Given the description of an element on the screen output the (x, y) to click on. 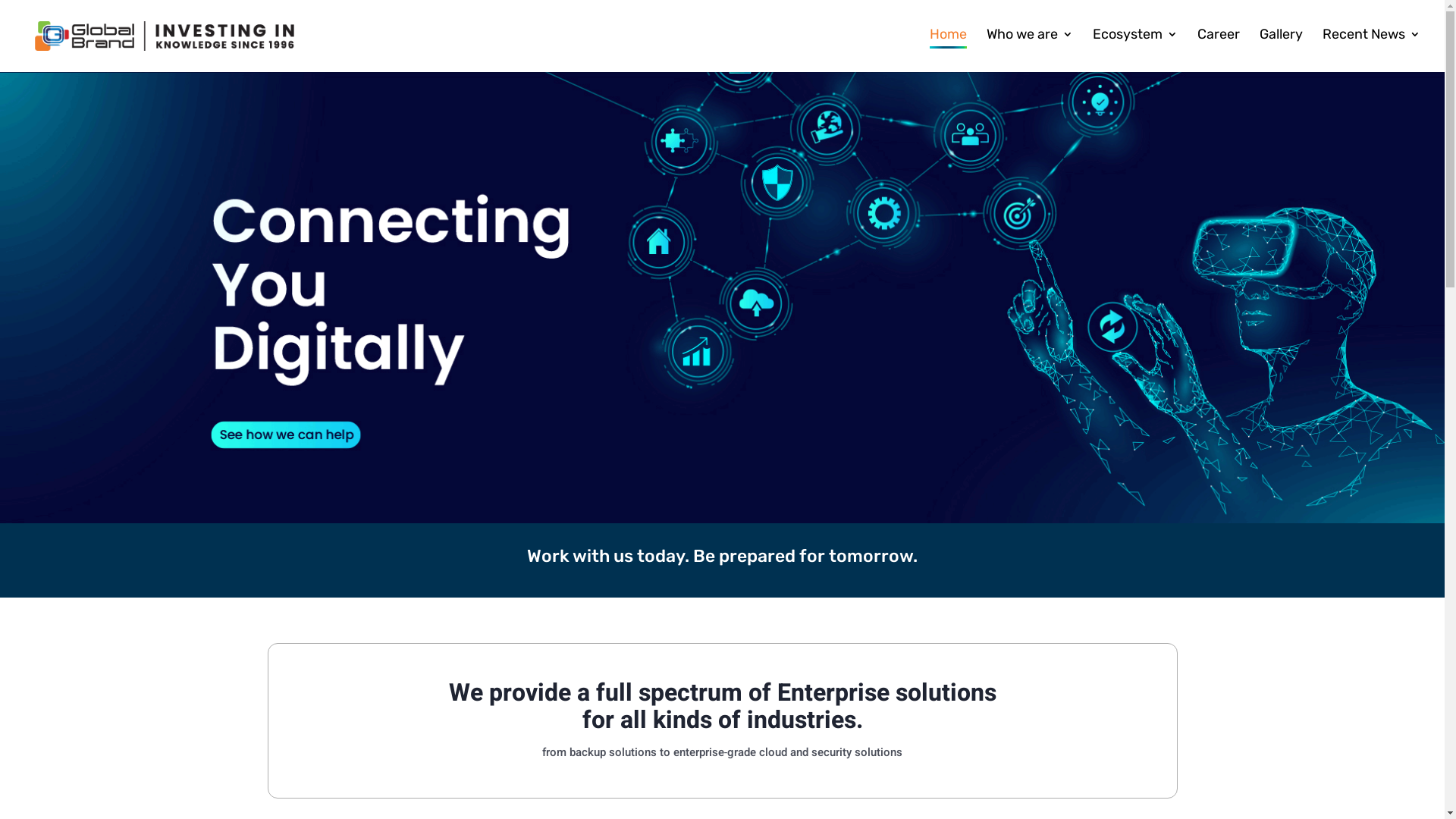
Home Element type: text (947, 50)
Ecosystem Element type: text (1134, 48)
Who we are Element type: text (1029, 48)
Gallery Element type: text (1280, 48)
Recent News Element type: text (1371, 48)
Career Element type: text (1218, 48)
